Given the description of an element on the screen output the (x, y) to click on. 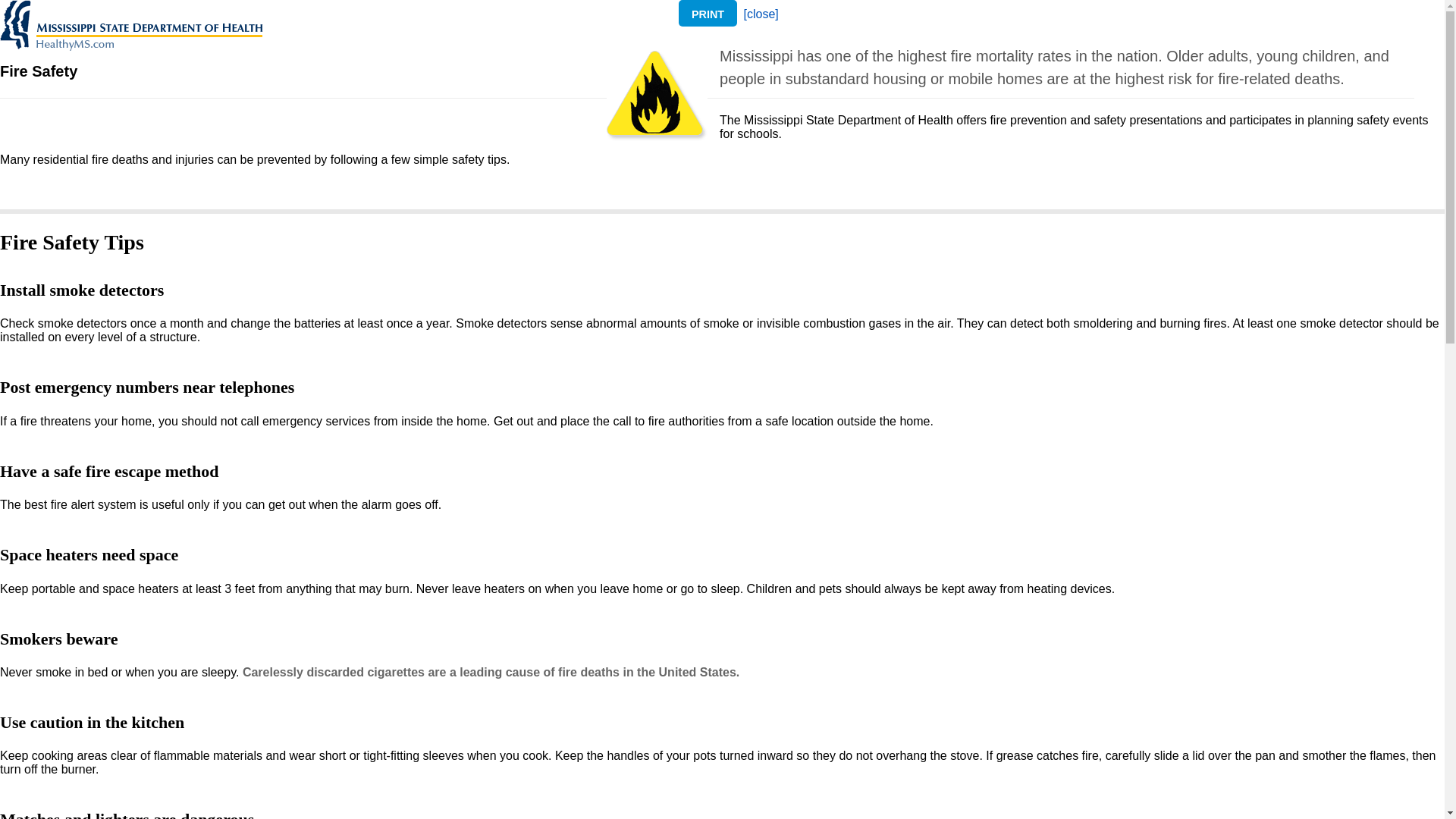
PRINT (707, 13)
PRINT (707, 13)
